Given the description of an element on the screen output the (x, y) to click on. 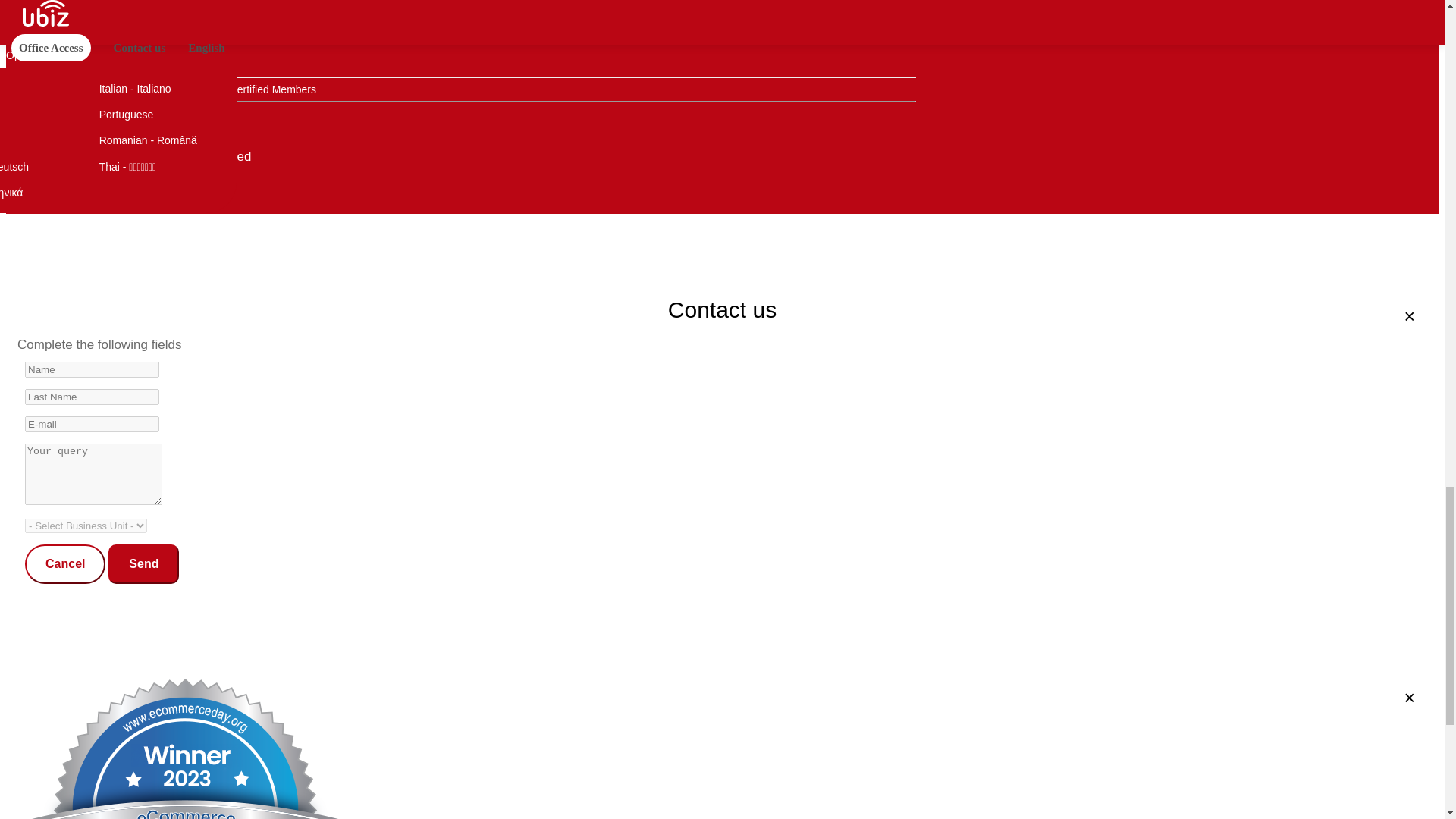
Winner 2023 - eCommerce Startup Competition (24, 128)
